Given the description of an element on the screen output the (x, y) to click on. 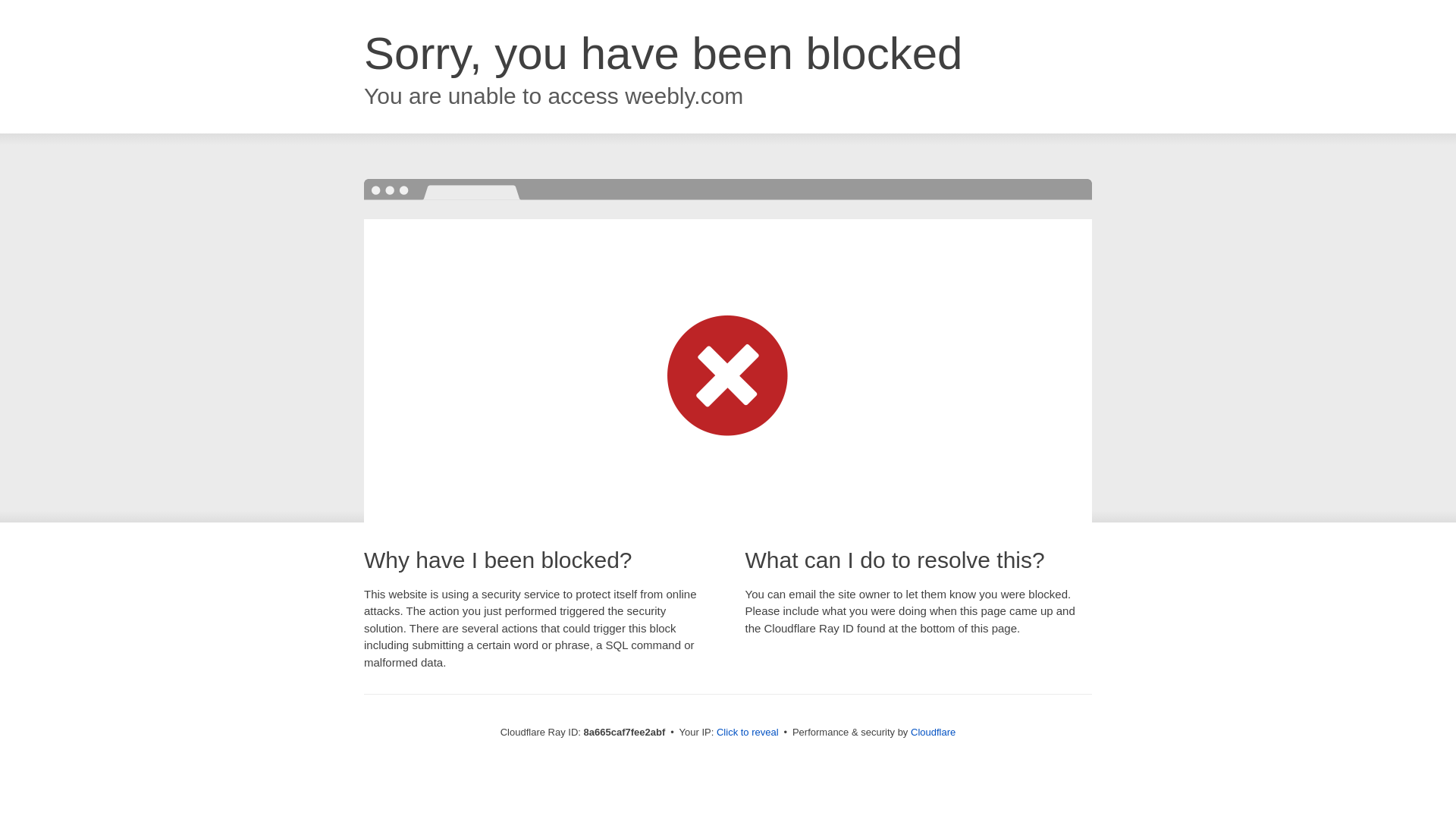
Click to reveal (747, 732)
Cloudflare (933, 731)
